Given the description of an element on the screen output the (x, y) to click on. 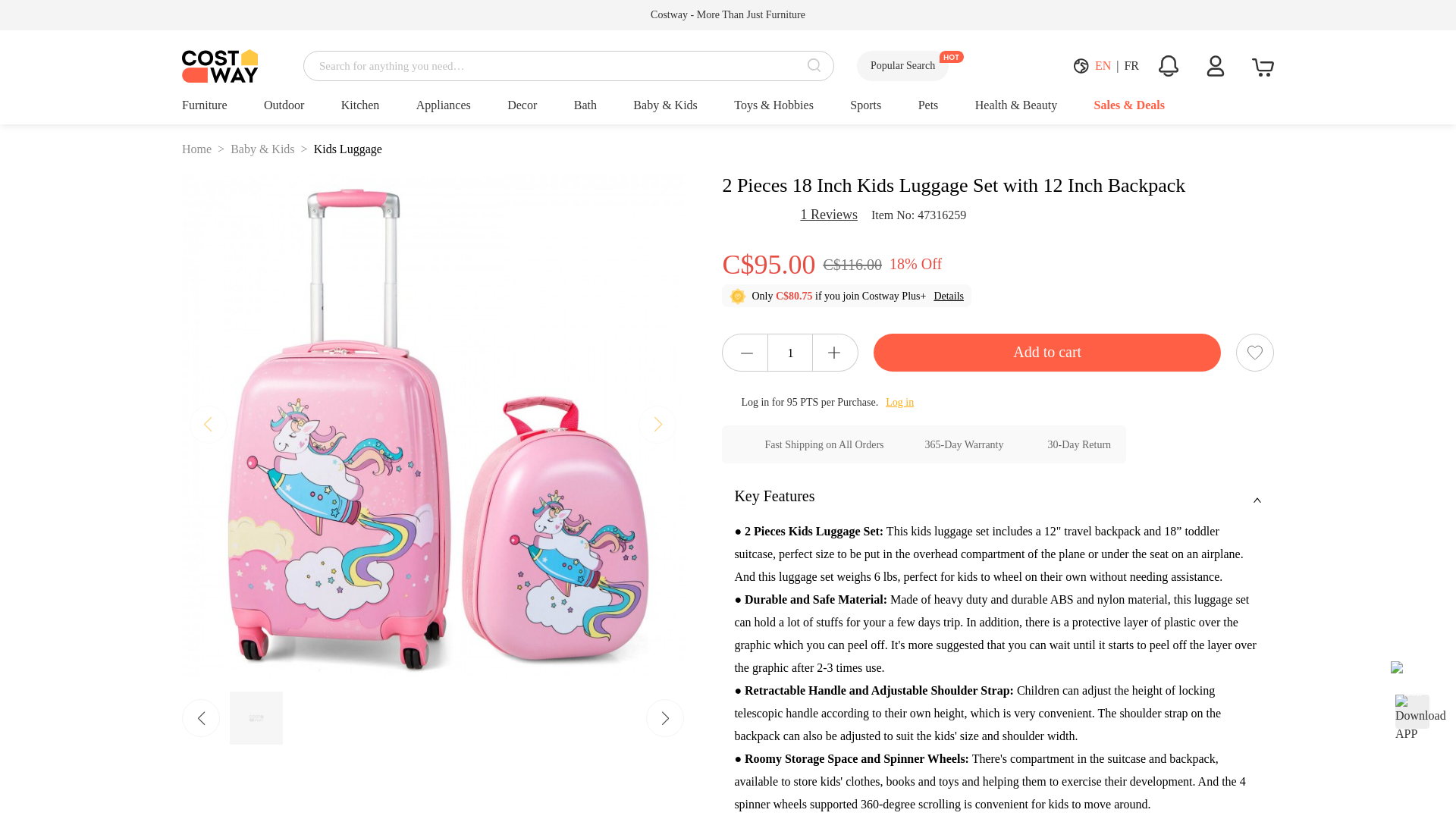
1 (790, 353)
Furniture (204, 105)
